Given the description of an element on the screen output the (x, y) to click on. 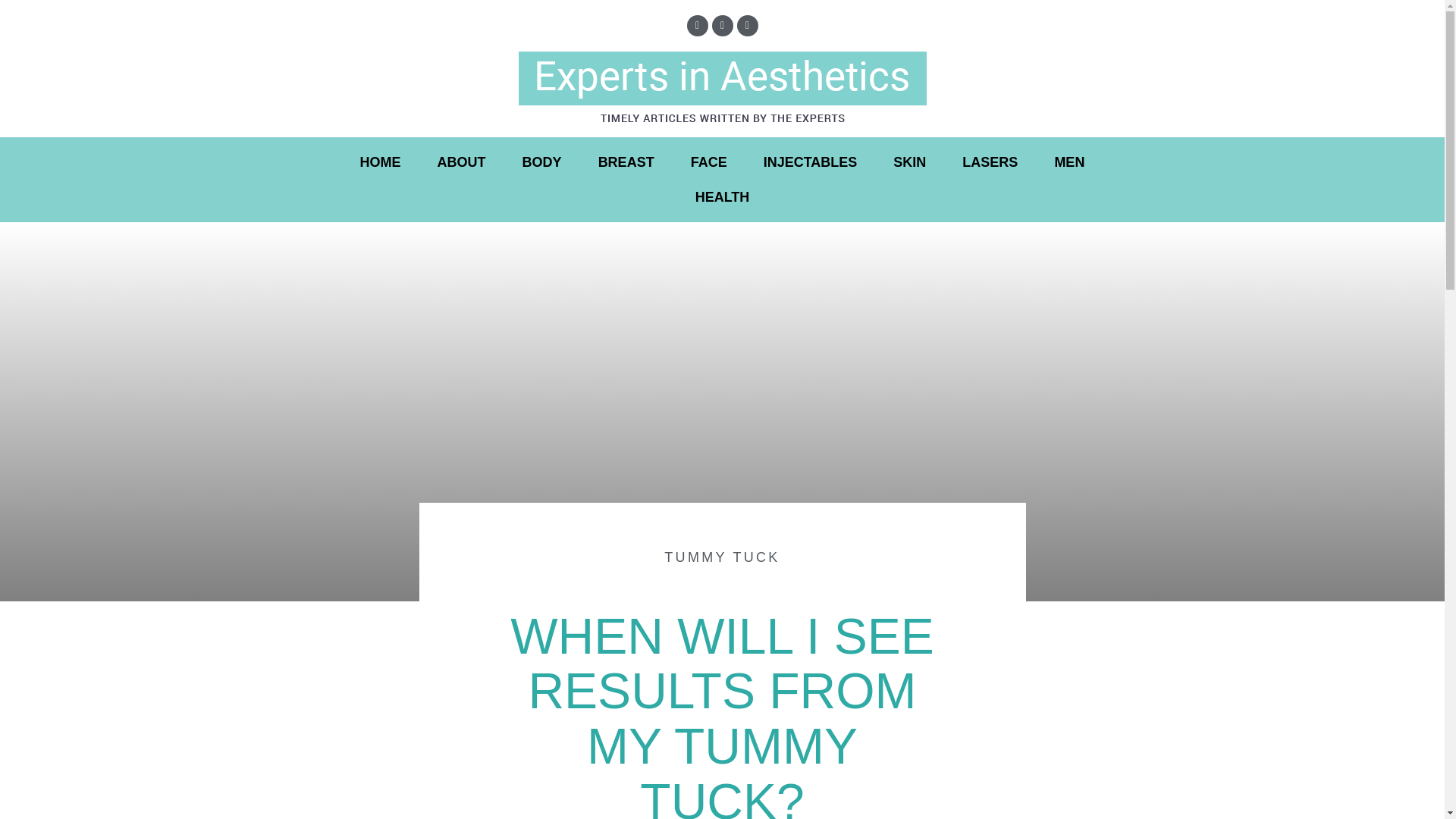
FACE (708, 161)
Facebook (697, 25)
HOME (380, 161)
ABOUT (461, 161)
Twitter (721, 25)
Rss (747, 25)
INJECTABLES (810, 161)
BODY (541, 161)
SKIN (909, 161)
BREAST (625, 161)
